Given the description of an element on the screen output the (x, y) to click on. 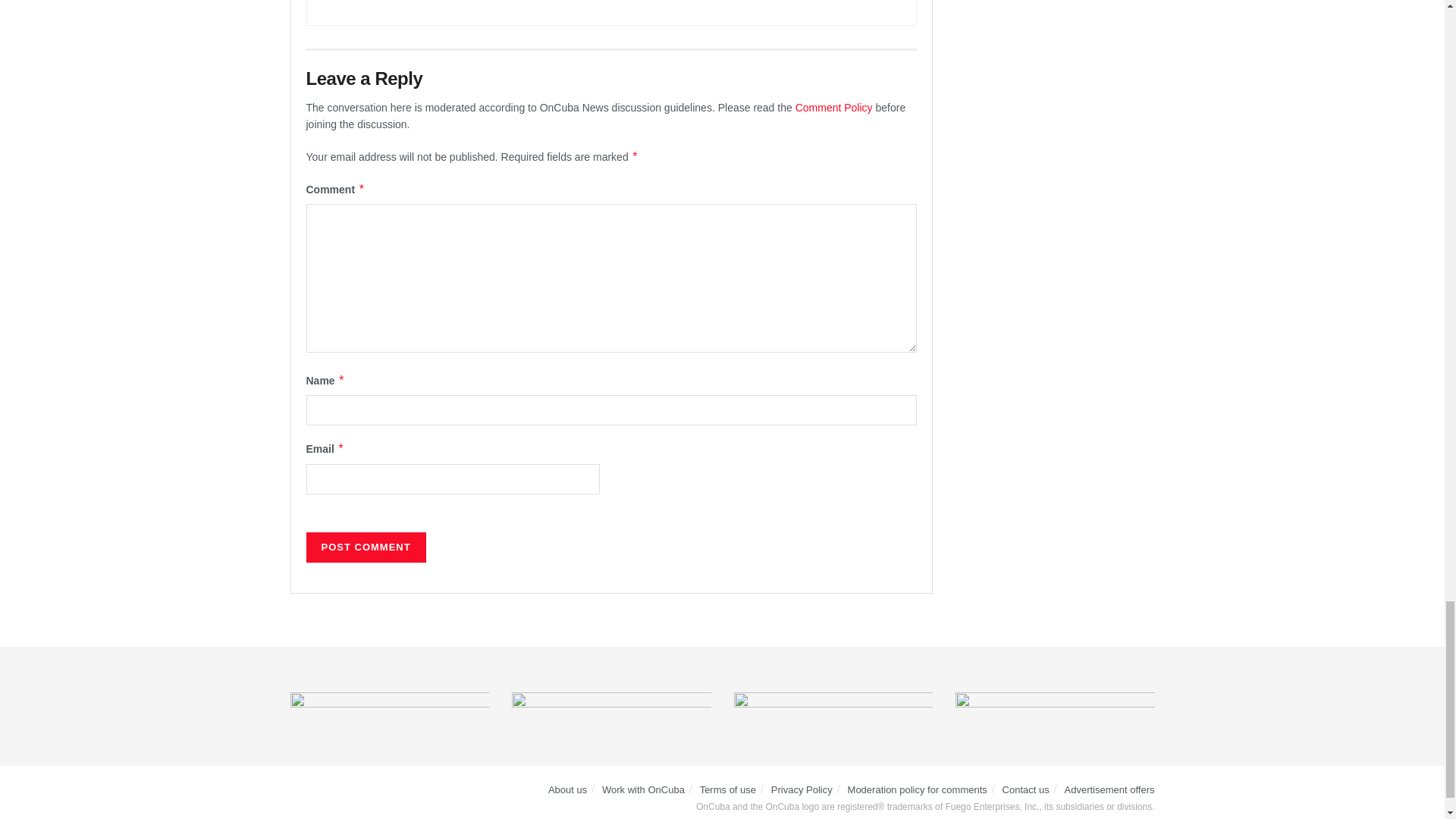
Post Comment (365, 547)
